Given the description of an element on the screen output the (x, y) to click on. 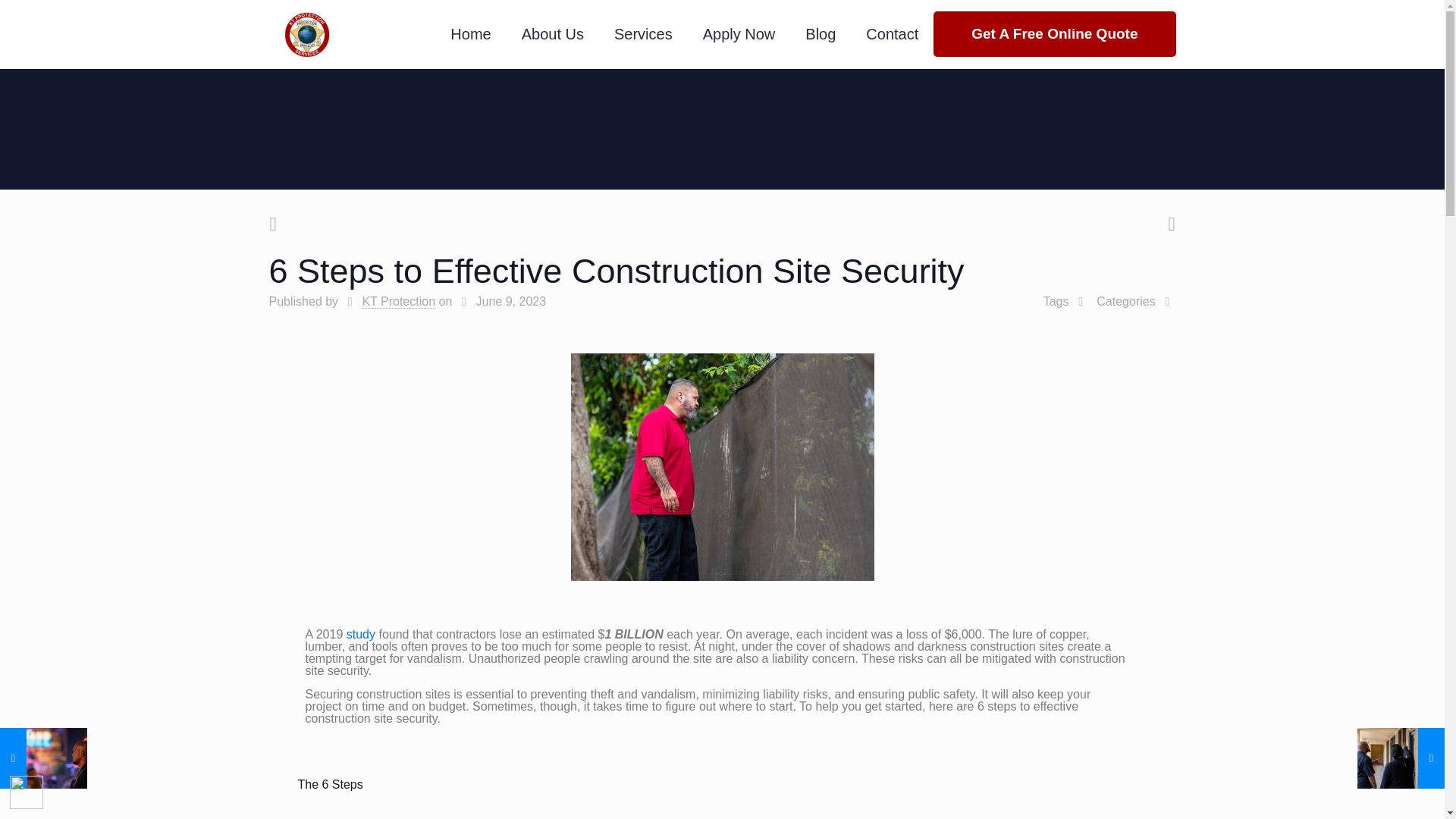
KT Protection (398, 301)
About Us (552, 33)
Services (642, 33)
Contact (891, 33)
Apply Now (738, 33)
Home (470, 33)
study (360, 634)
Get A Free Online Quote (1053, 33)
